Given the description of an element on the screen output the (x, y) to click on. 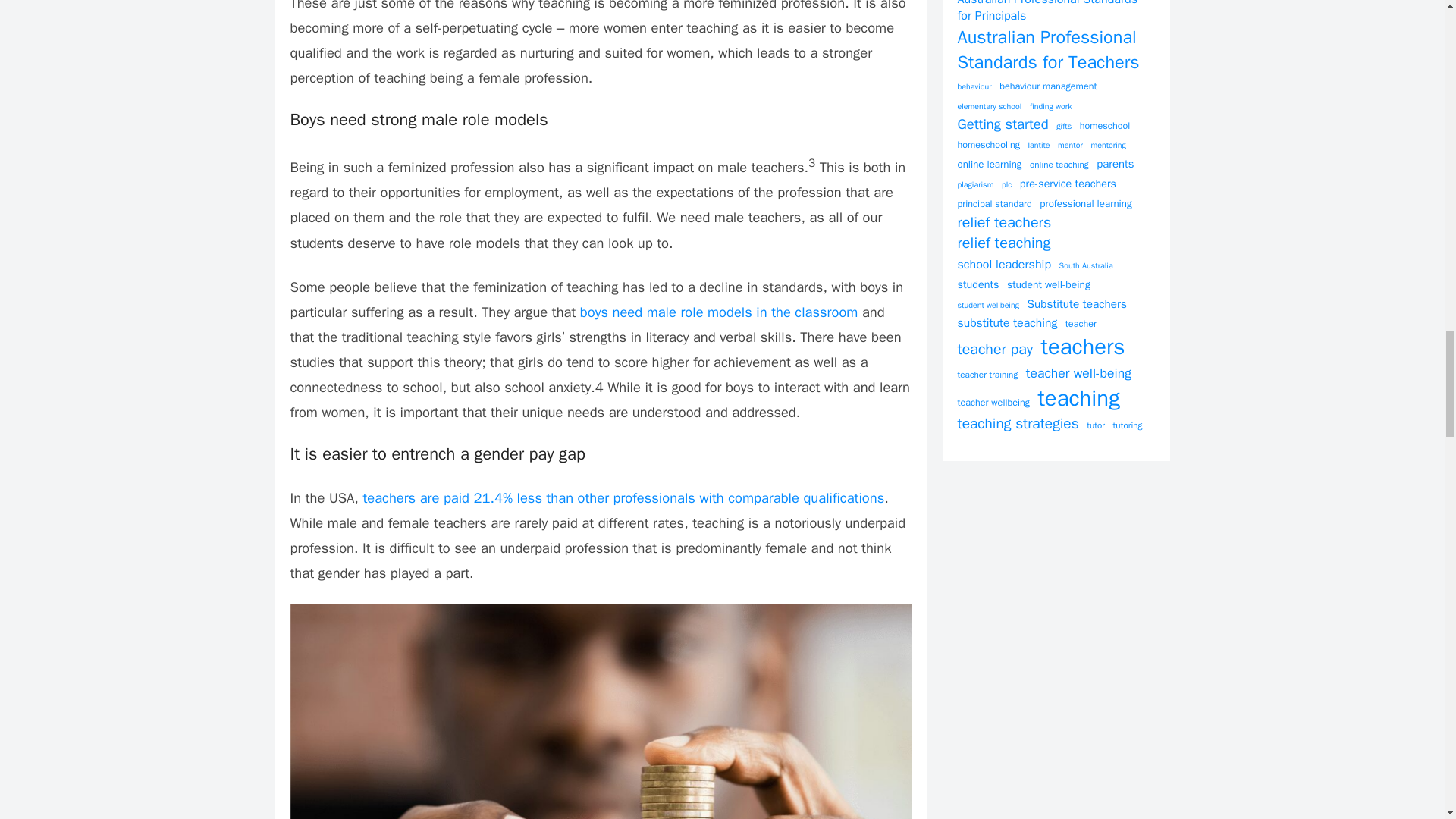
boys need male role models in the classroom (719, 312)
